Given the description of an element on the screen output the (x, y) to click on. 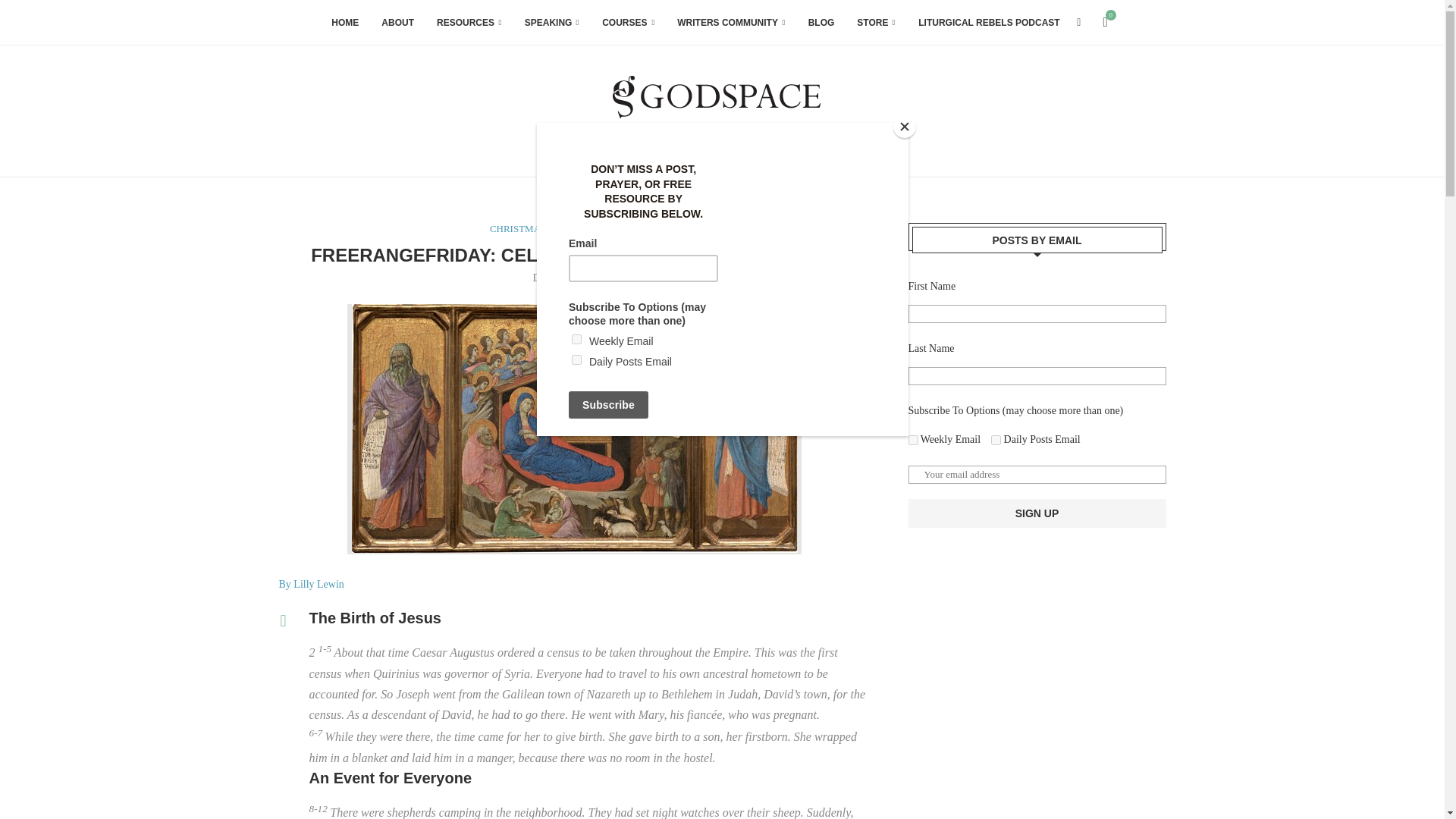
LITURGICAL REBELS PODCAST (988, 22)
BLOG (821, 22)
ABOUT (397, 22)
WRITERS COMMUNITY (730, 22)
Christmas tryptch (574, 428)
0 (1105, 22)
RESOURCES (469, 22)
COURSES (627, 22)
STORE (876, 22)
HOME (344, 22)
View your shopping cart (1105, 22)
Sign up (1037, 512)
7316919972 (913, 439)
SPEAKING (551, 22)
53090618e5 (996, 439)
